Given the description of an element on the screen output the (x, y) to click on. 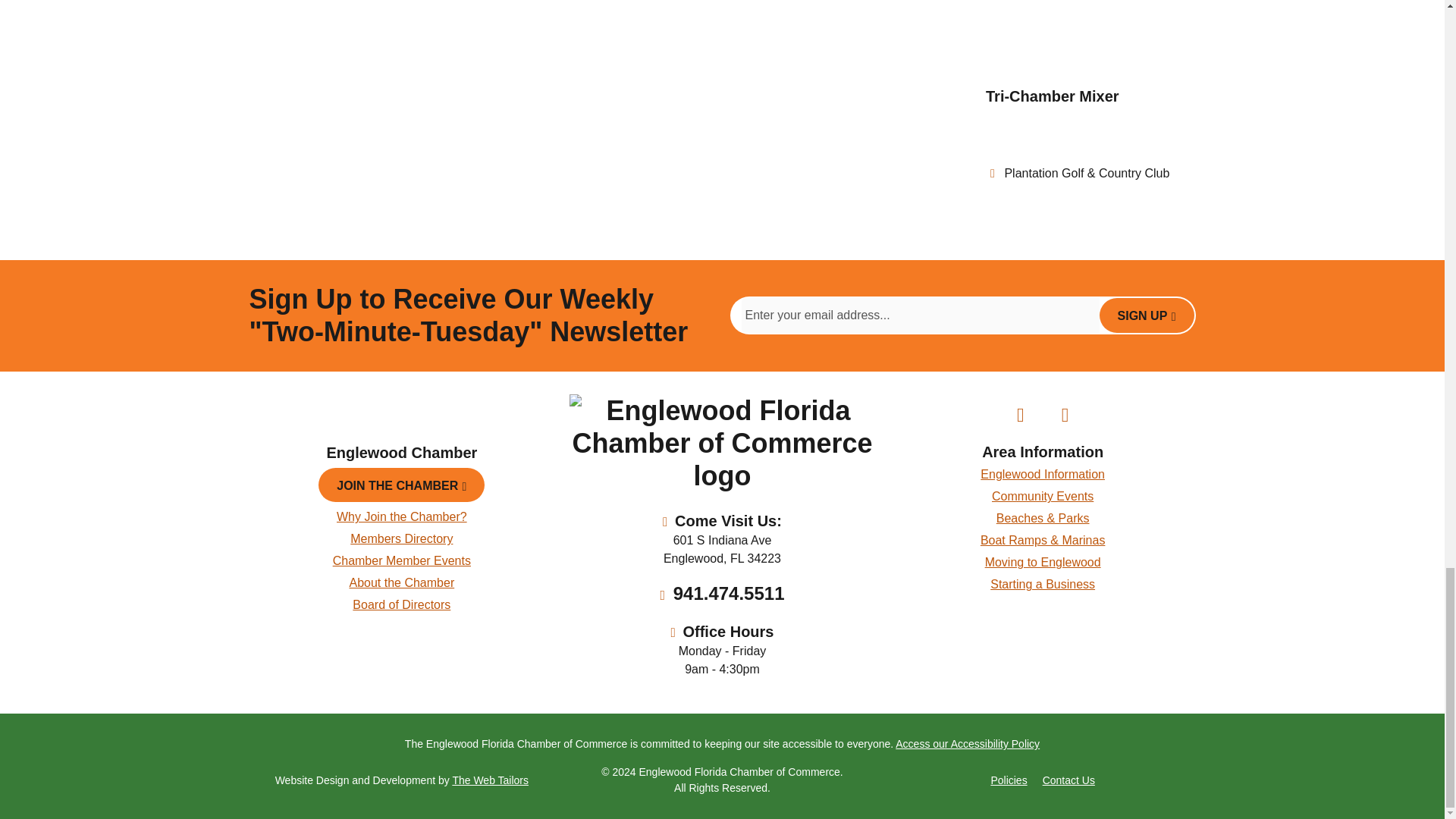
Instagram (1064, 415)
Facebook (1020, 415)
